Given the description of an element on the screen output the (x, y) to click on. 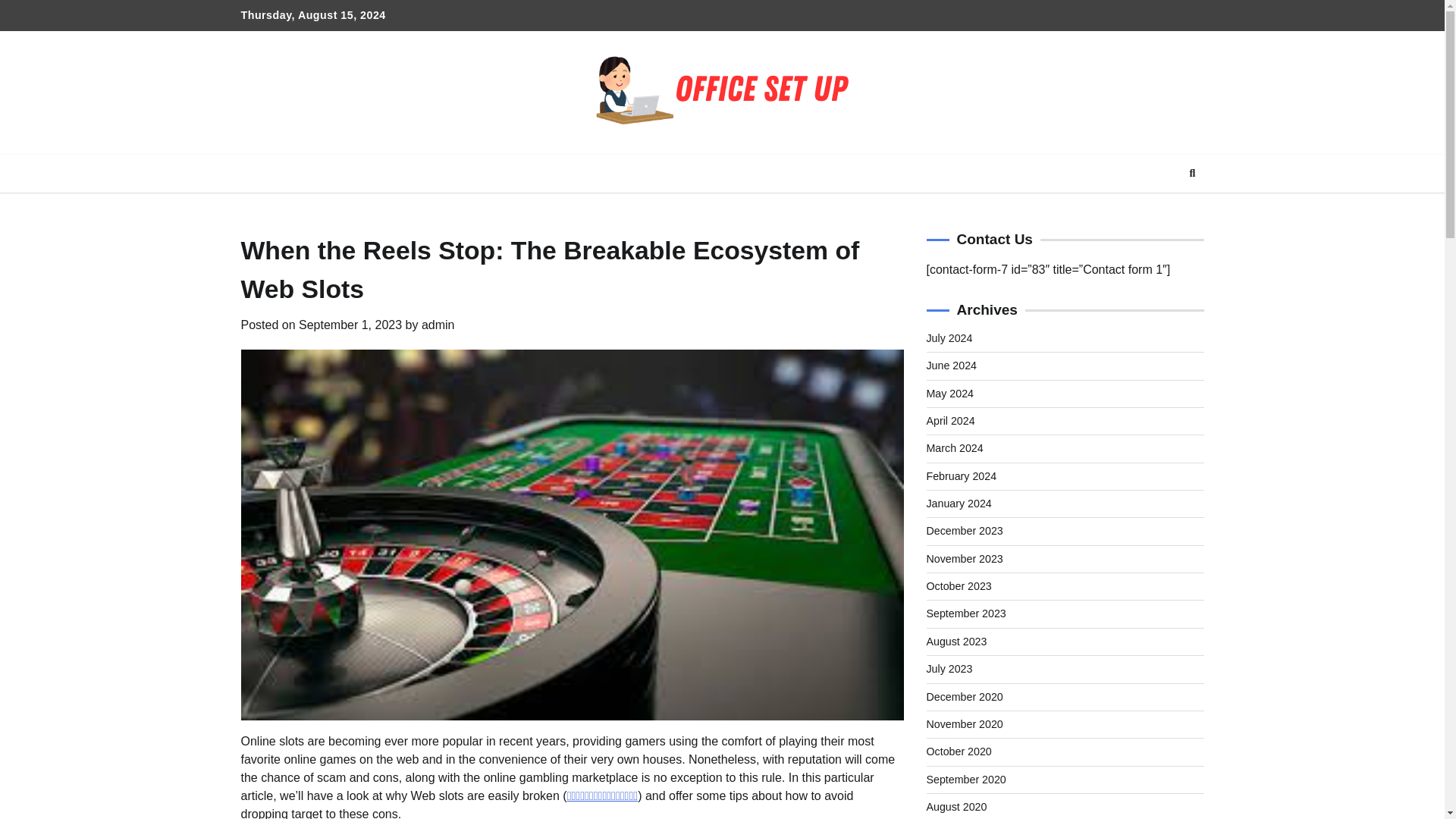
September 1, 2023 (349, 324)
December 2023 (964, 530)
October 2023 (958, 585)
Search (1192, 173)
July 2023 (949, 668)
August 2023 (956, 641)
February 2024 (961, 476)
July 2024 (949, 337)
January 2024 (958, 503)
September 2023 (966, 613)
